Given the description of an element on the screen output the (x, y) to click on. 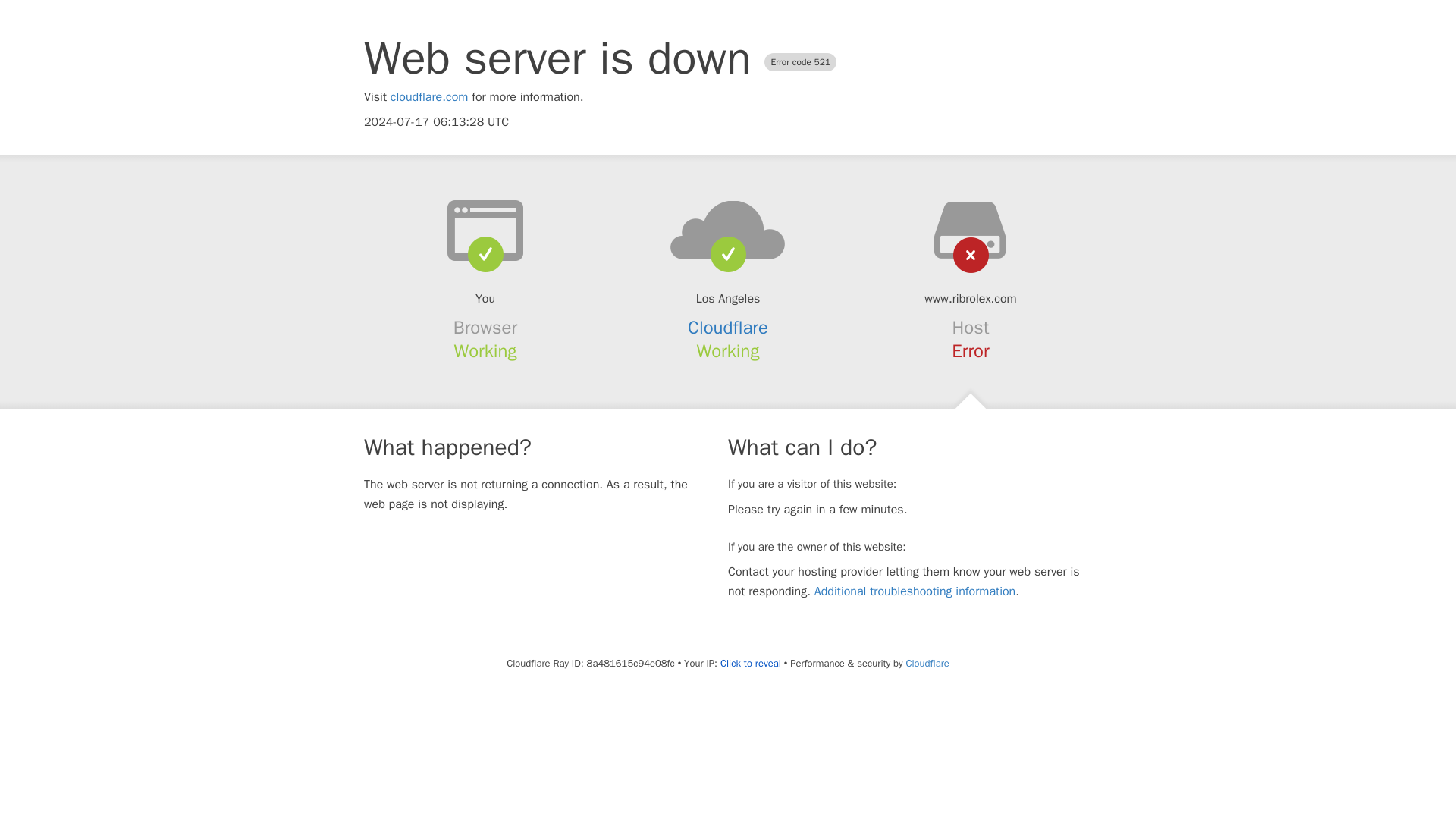
Click to reveal (750, 663)
Cloudflare (727, 327)
Additional troubleshooting information (913, 590)
cloudflare.com (429, 96)
Cloudflare (927, 662)
